Given the description of an element on the screen output the (x, y) to click on. 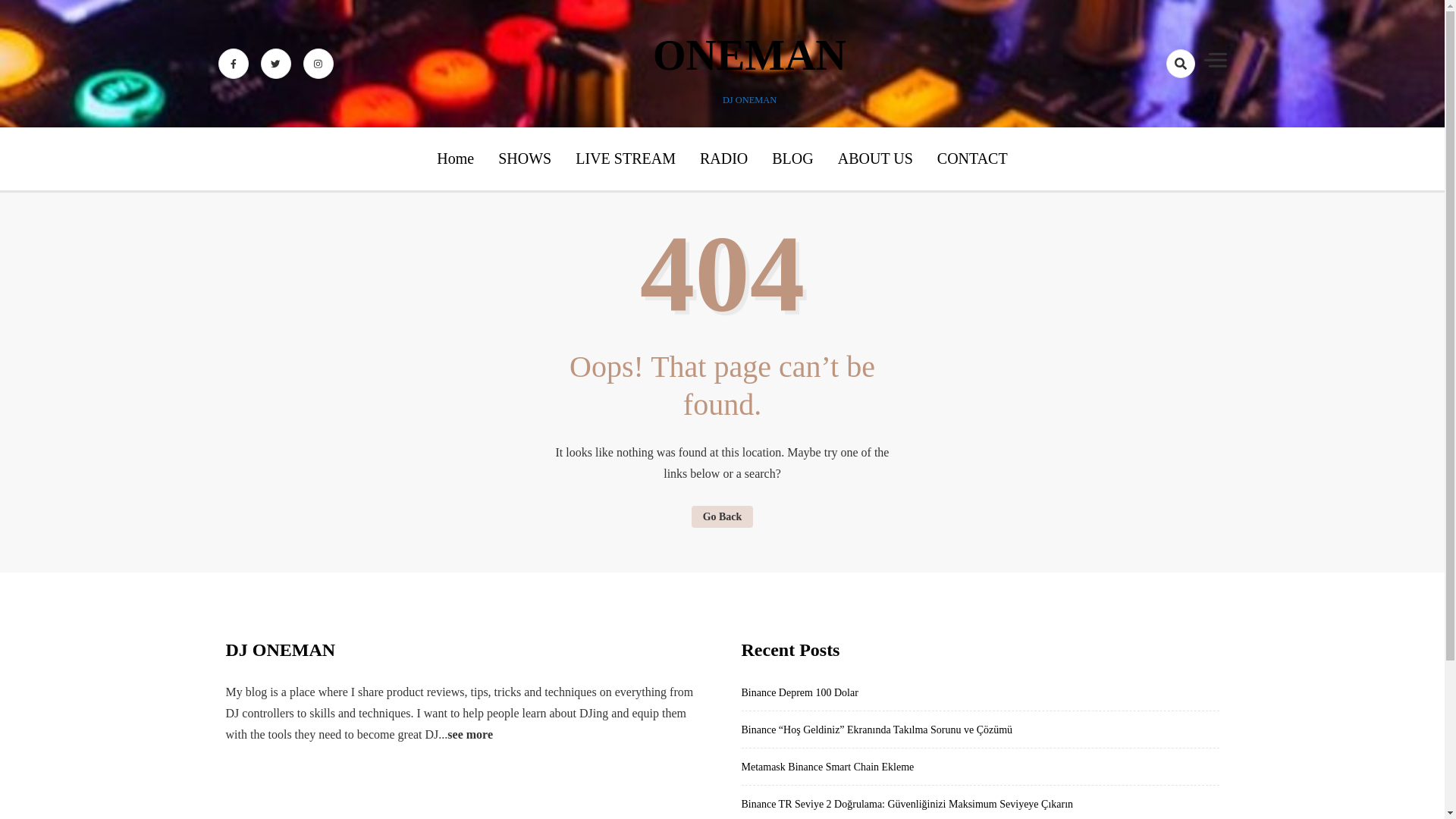
ABOUT US (875, 158)
Binance Deprem 100 Dolar (800, 692)
Search (1152, 117)
CONTACT (972, 158)
ONEMAN (748, 54)
Metamask Binance Smart Chain Ekleme (827, 767)
see more (469, 734)
Go Back (722, 516)
LIVE STREAM (625, 158)
